Given the description of an element on the screen output the (x, y) to click on. 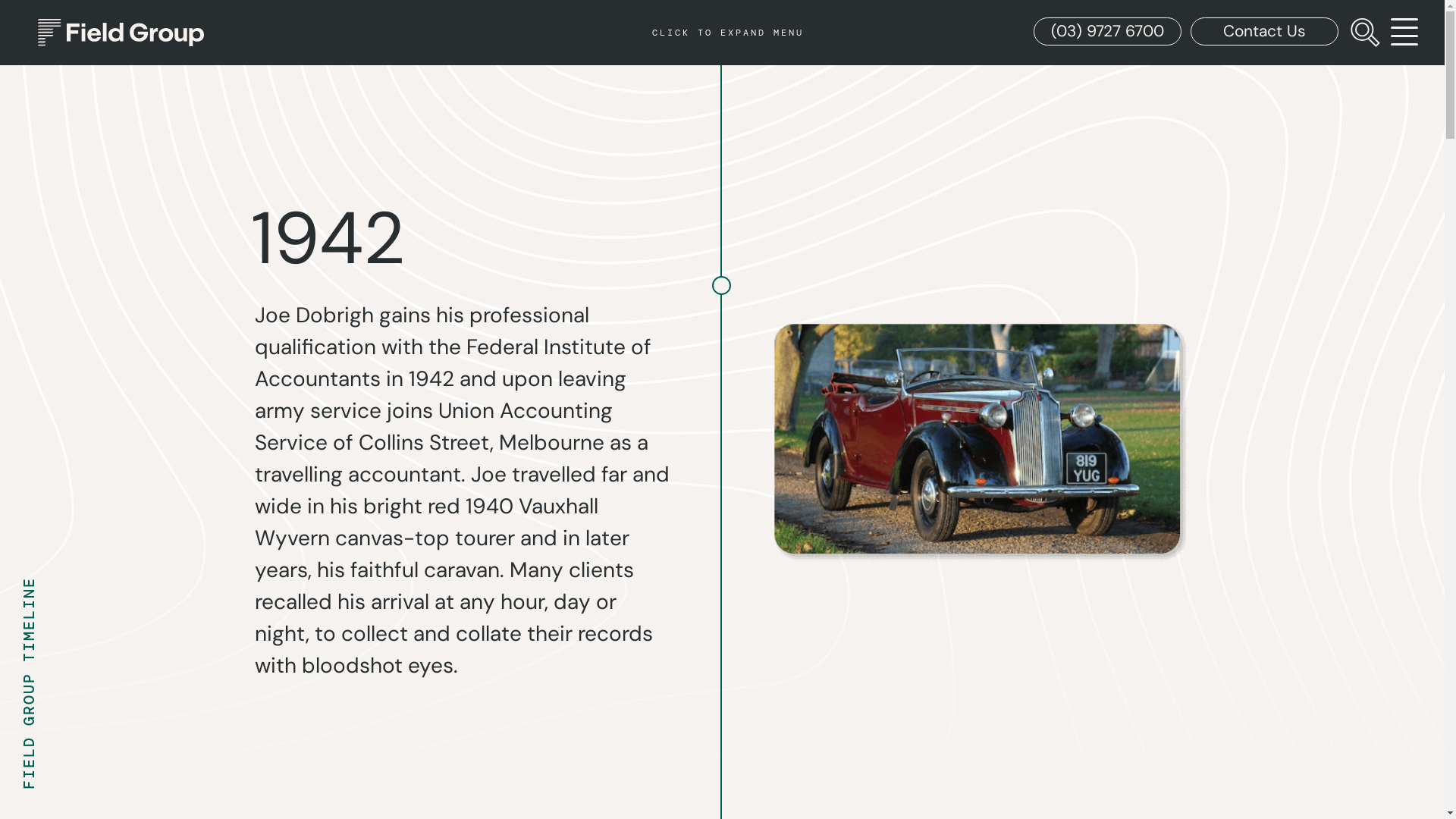
Contact Us Element type: text (1264, 31)
(03) 9727 6700 Element type: text (1107, 31)
